Given the description of an element on the screen output the (x, y) to click on. 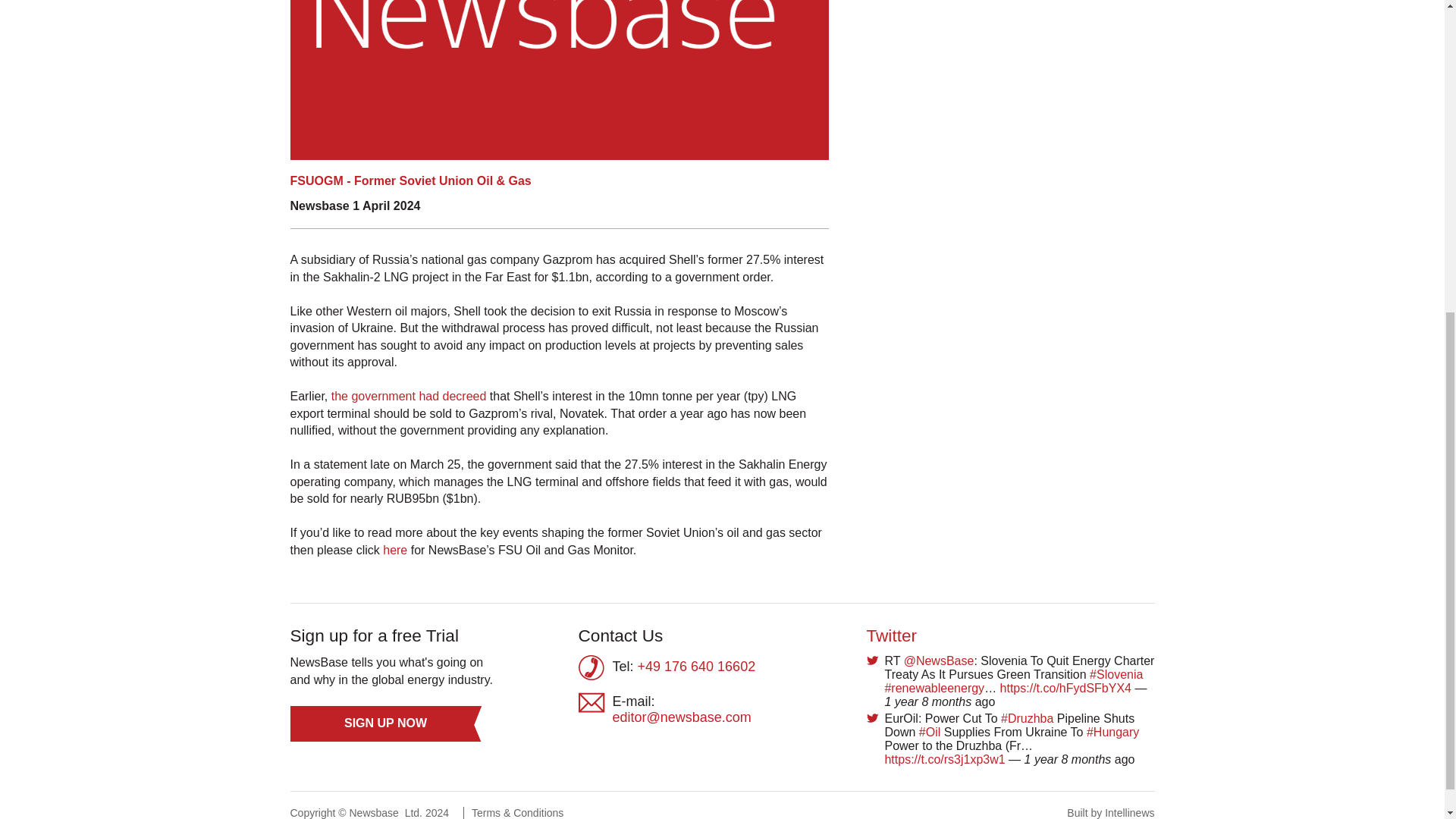
the government had decreed (408, 395)
here  (396, 549)
SIGN UP NOW (384, 723)
Twitter (891, 635)
